Given the description of an element on the screen output the (x, y) to click on. 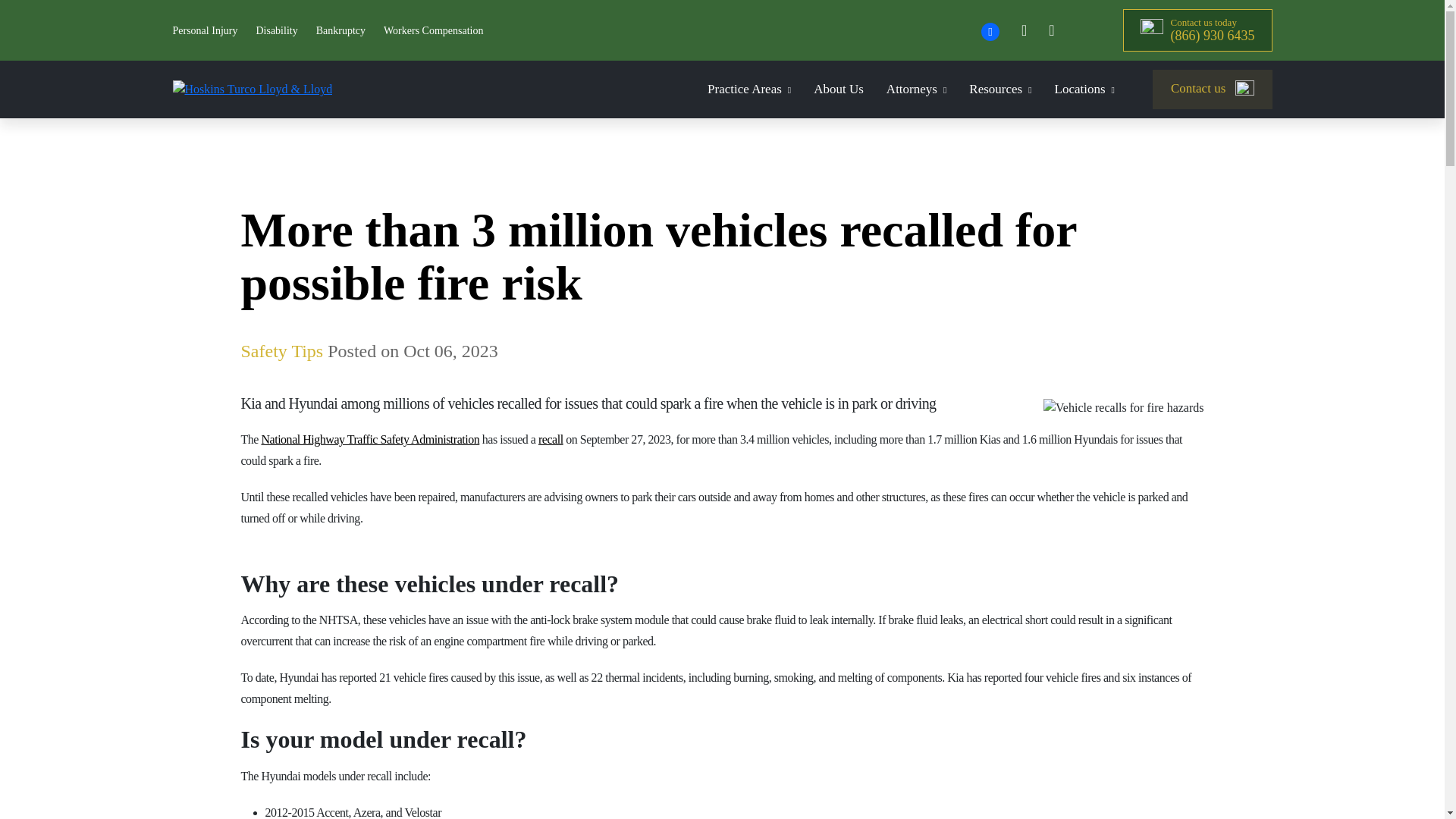
Attorneys (916, 88)
Practice Areas (748, 88)
About Us (838, 88)
Personal Injury (205, 30)
Bankruptcy (340, 30)
Workers Compensation (433, 30)
Disability (276, 30)
